Given the description of an element on the screen output the (x, y) to click on. 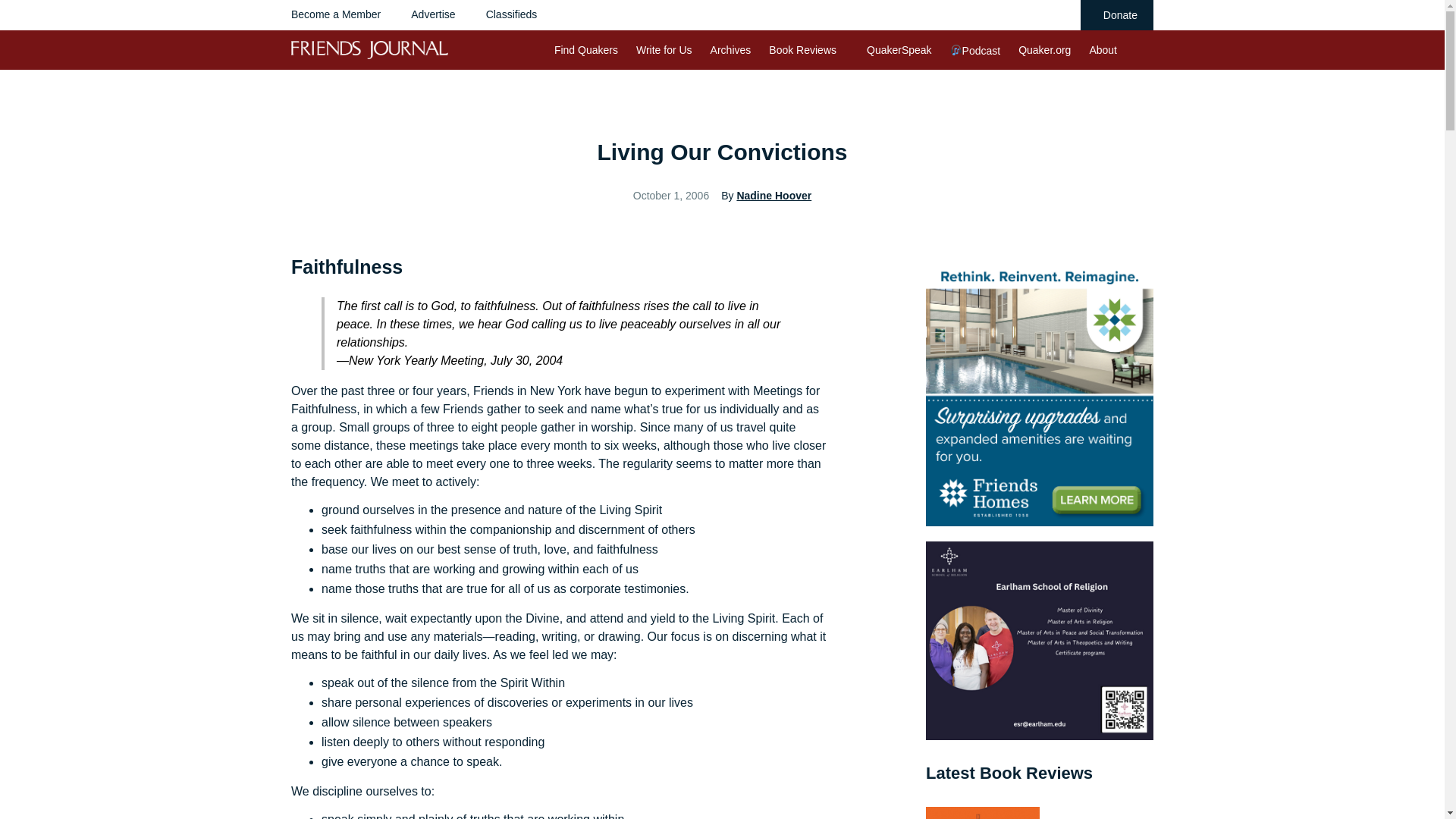
QuakerSpeak (898, 50)
Donate (1116, 15)
Archives (730, 50)
Classifieds (511, 14)
Write for Us (664, 50)
About (1102, 50)
Podcast (975, 50)
Latest Book Reviews (1009, 772)
Nadine Hoover (773, 195)
Advertise (432, 14)
Become a Member (335, 14)
Quaker.org (1043, 50)
Book Reviews (801, 50)
Find Quakers (585, 50)
